Given the description of an element on the screen output the (x, y) to click on. 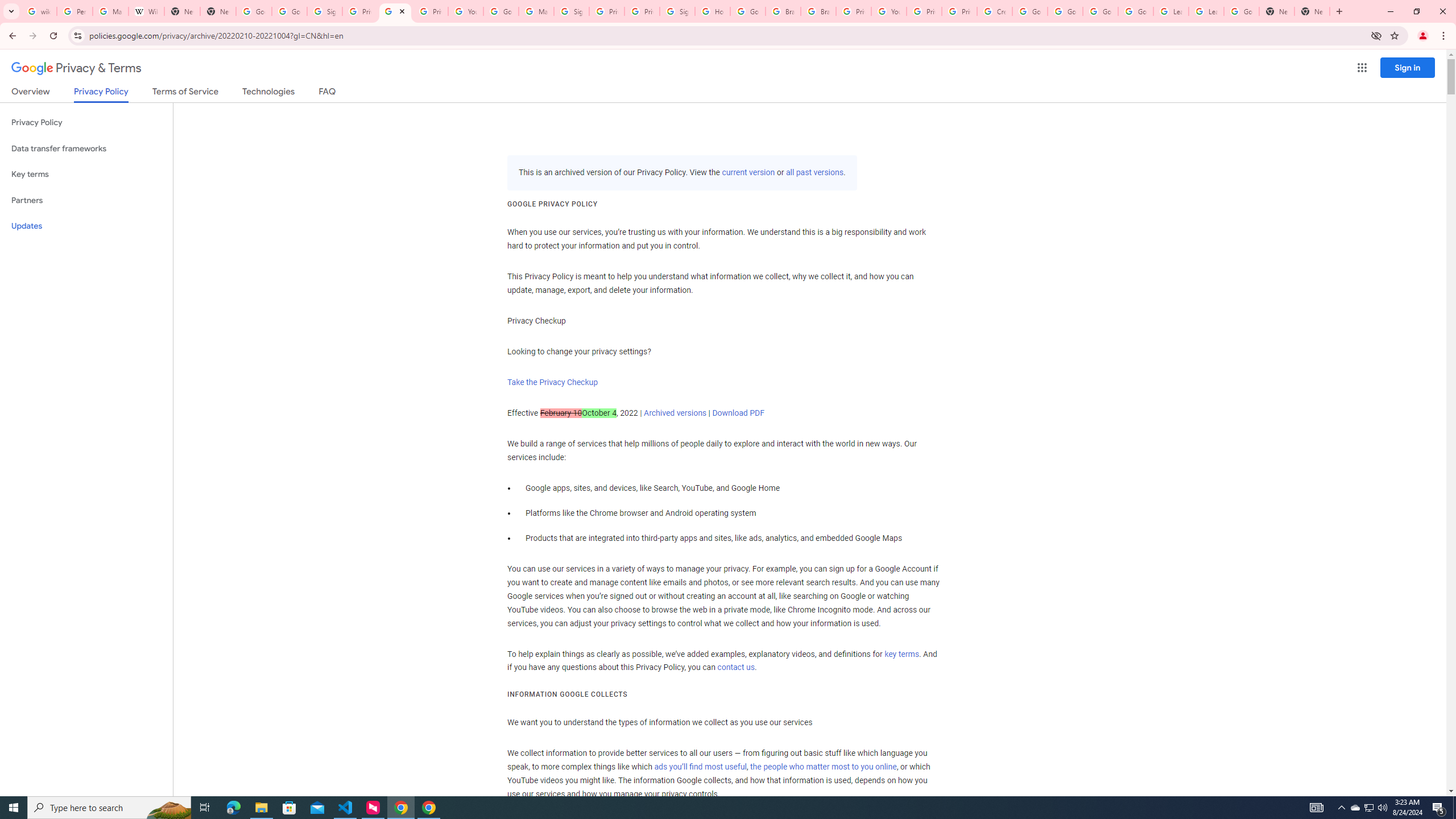
Privacy & Terms (76, 68)
New Tab (218, 11)
New Tab (1312, 11)
Brand Resource Center (817, 11)
Wikipedia:Edit requests - Wikipedia (145, 11)
Partners (86, 199)
Terms of Service (184, 93)
Google Account Help (1029, 11)
